Given the description of an element on the screen output the (x, y) to click on. 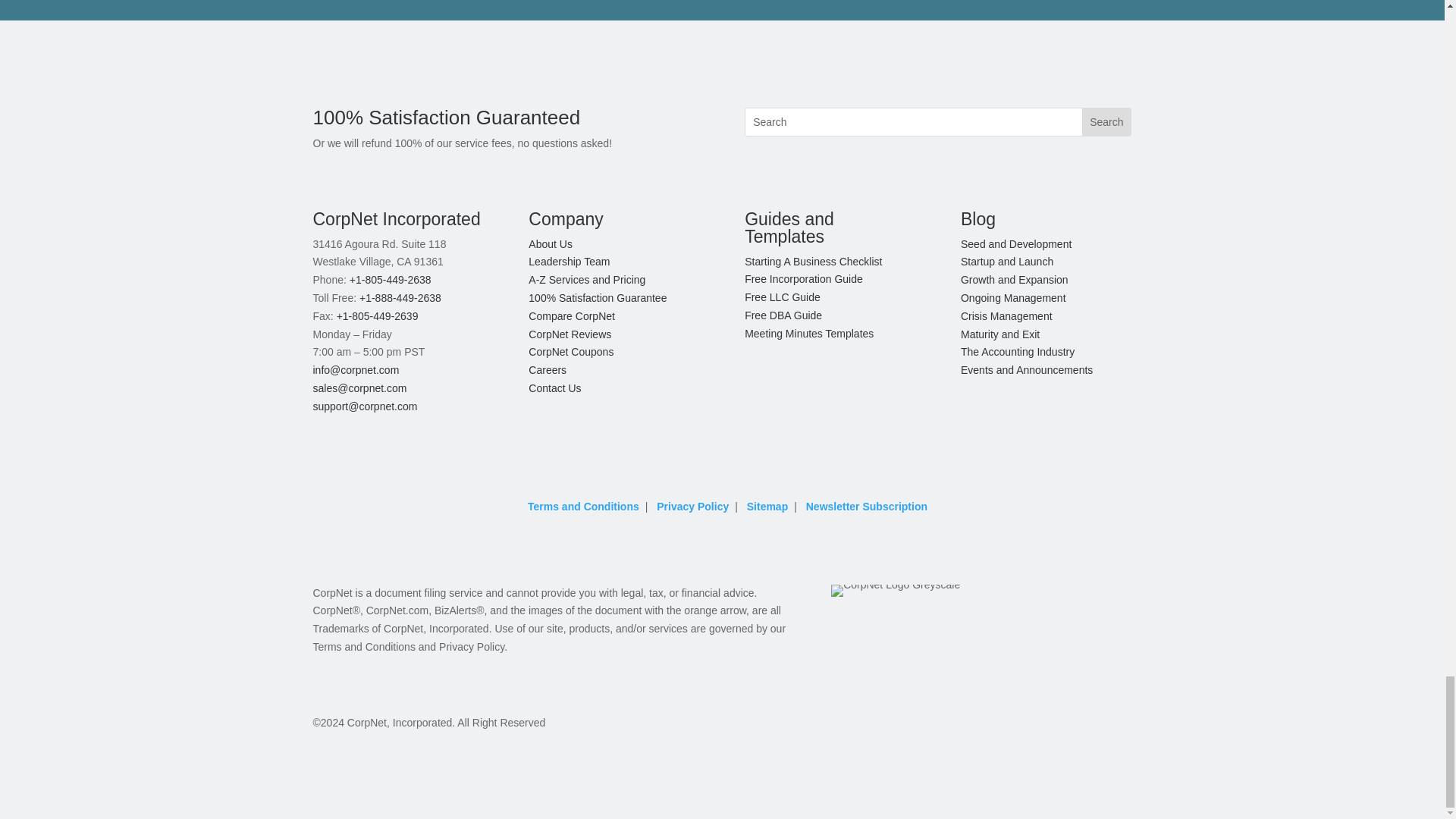
Leadership Team (569, 261)
Search (1106, 121)
Search (1106, 121)
CorpNet Coupons (570, 351)
Compare CorpNet (571, 316)
CorpNet Reviews (569, 334)
A-Z Services and Pricing (586, 279)
